Given the description of an element on the screen output the (x, y) to click on. 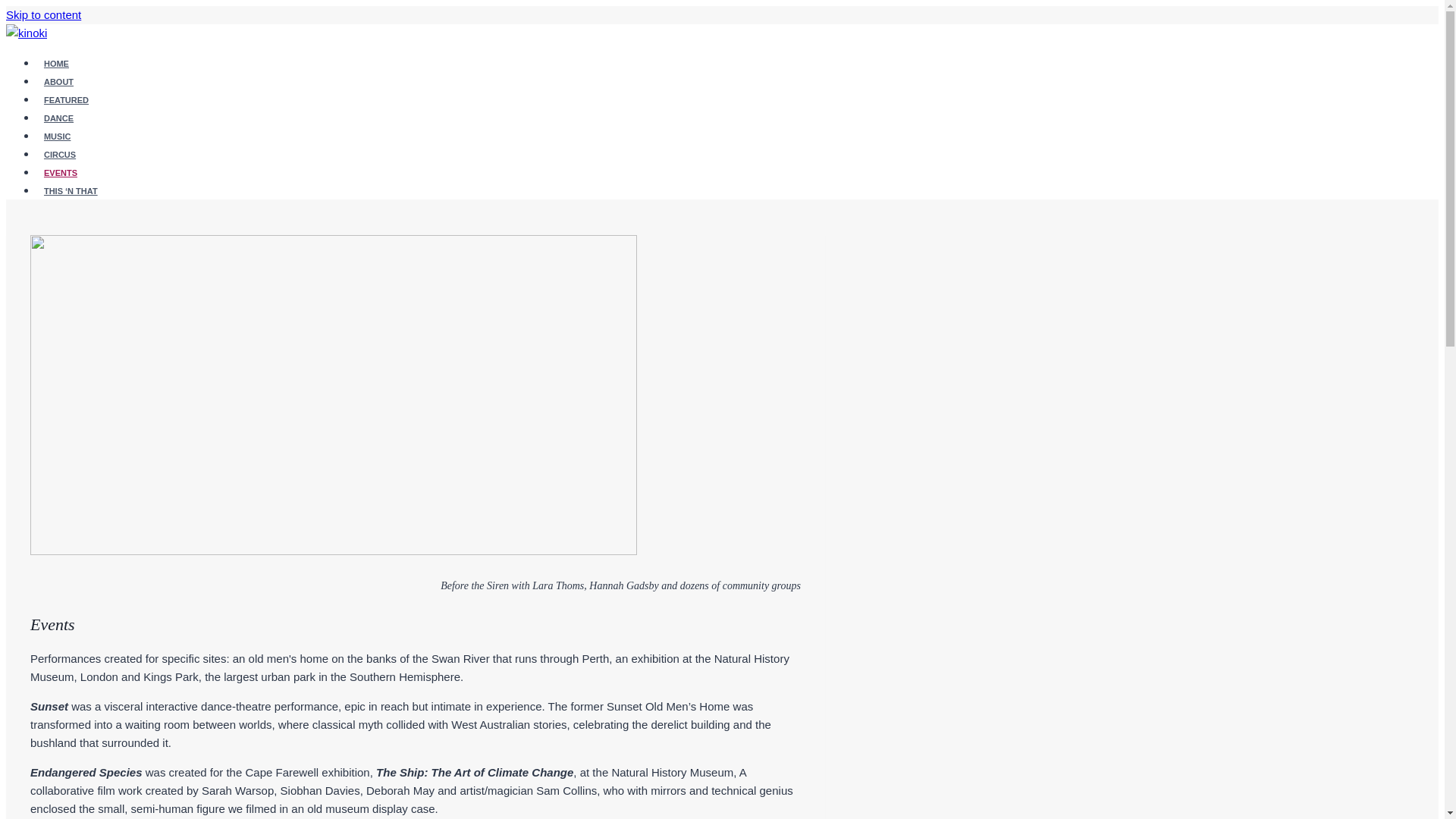
MUSIC (57, 135)
HOME (56, 63)
Skip to content (43, 14)
Skip to content (43, 14)
DANCE (58, 117)
ABOUT (58, 81)
CIRCUS (59, 153)
EVENTS (60, 171)
FEATURED (66, 99)
